Given the description of an element on the screen output the (x, y) to click on. 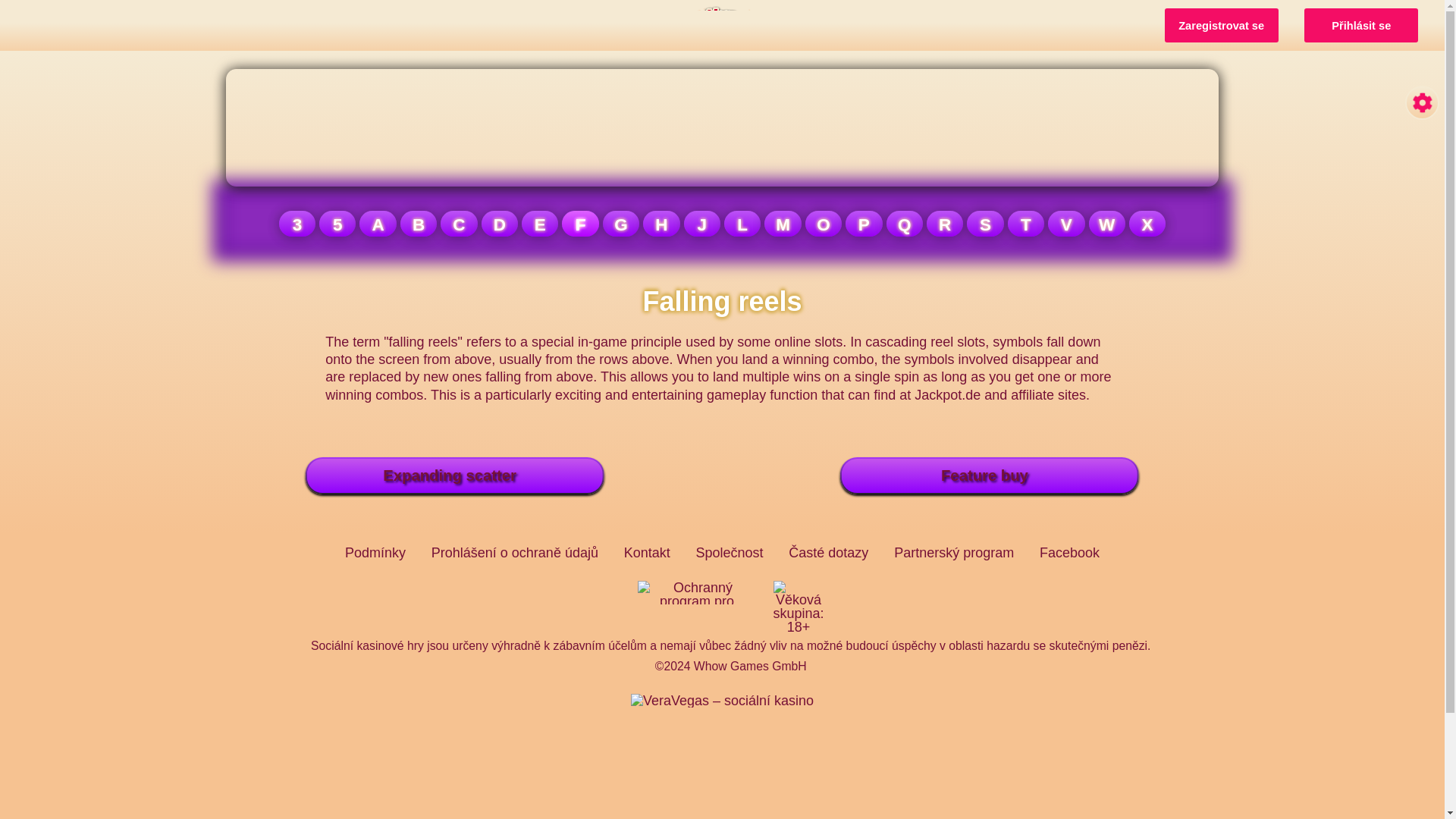
Zaregistrovat se (1221, 25)
